Given the description of an element on the screen output the (x, y) to click on. 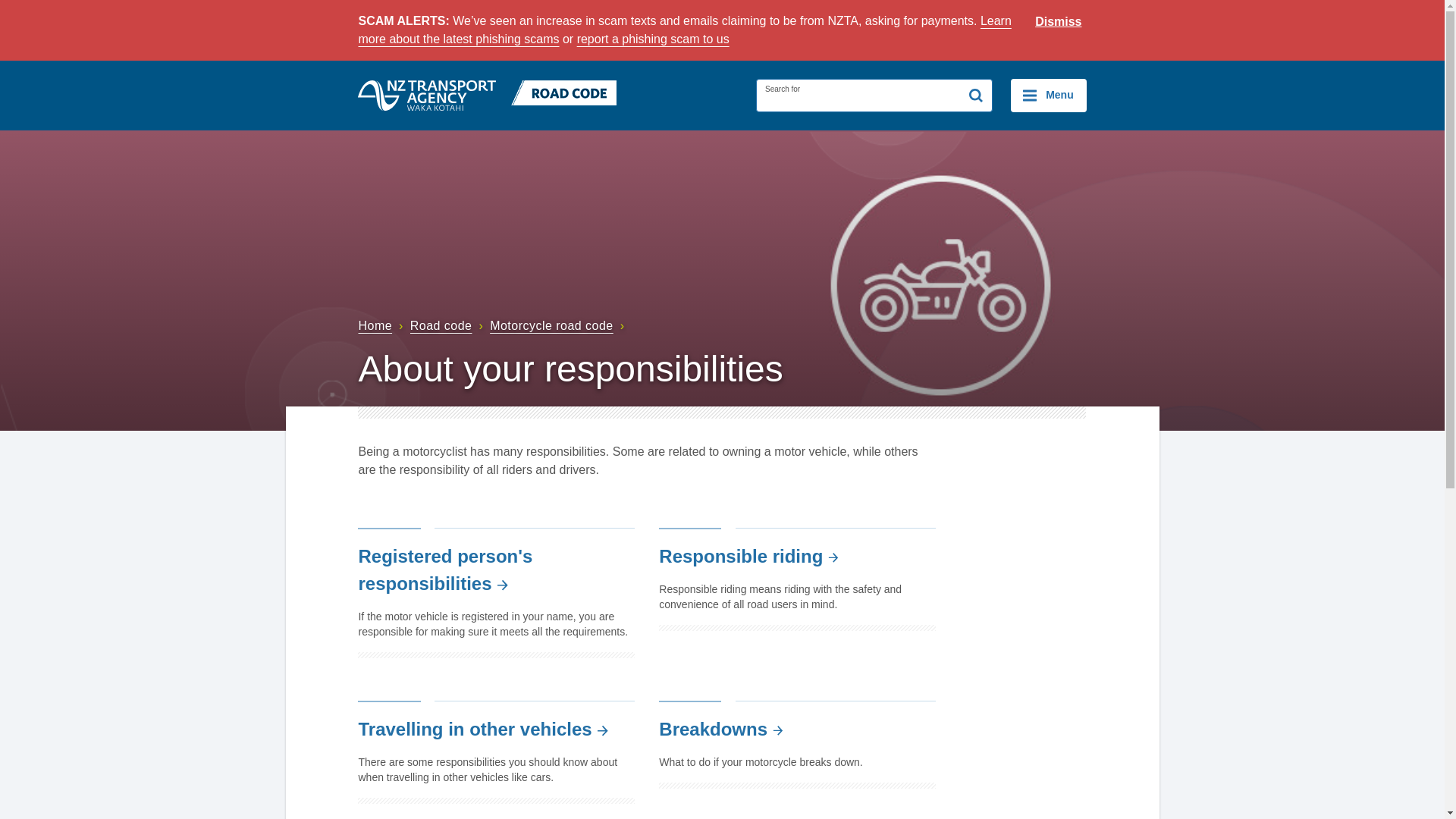
Learn more about the latest phishing scams (684, 29)
Dismiss (1058, 21)
Road code (448, 325)
Menu (1048, 95)
Home (382, 325)
NZ Transport Agency Waka Kotahi (427, 95)
report a phishing scam to us (652, 38)
